Given the description of an element on the screen output the (x, y) to click on. 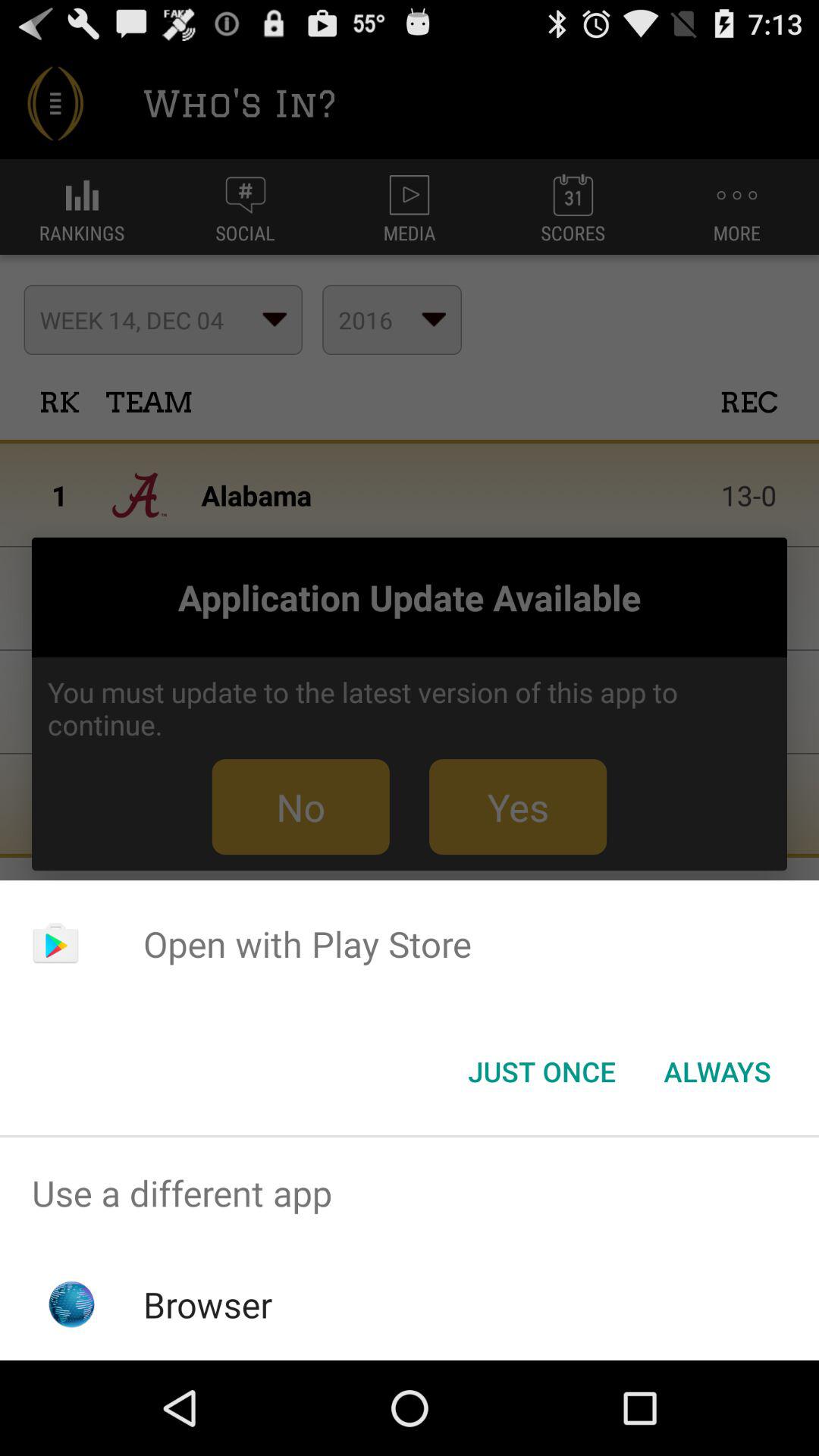
tap use a different (409, 1192)
